Given the description of an element on the screen output the (x, y) to click on. 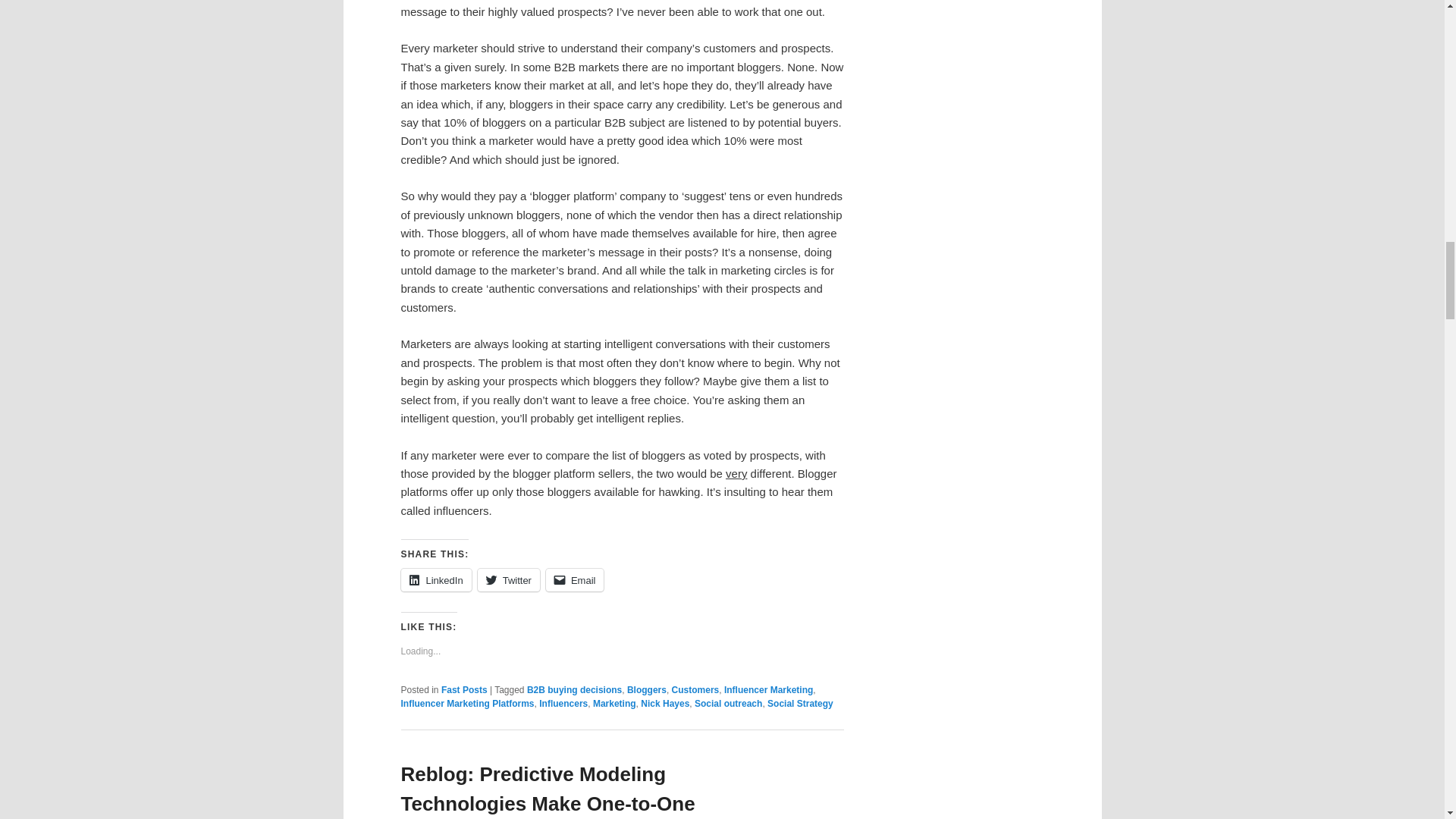
Click to share on Twitter (508, 579)
Click to email a link to a friend (575, 579)
Click to share on LinkedIn (435, 579)
